Given the description of an element on the screen output the (x, y) to click on. 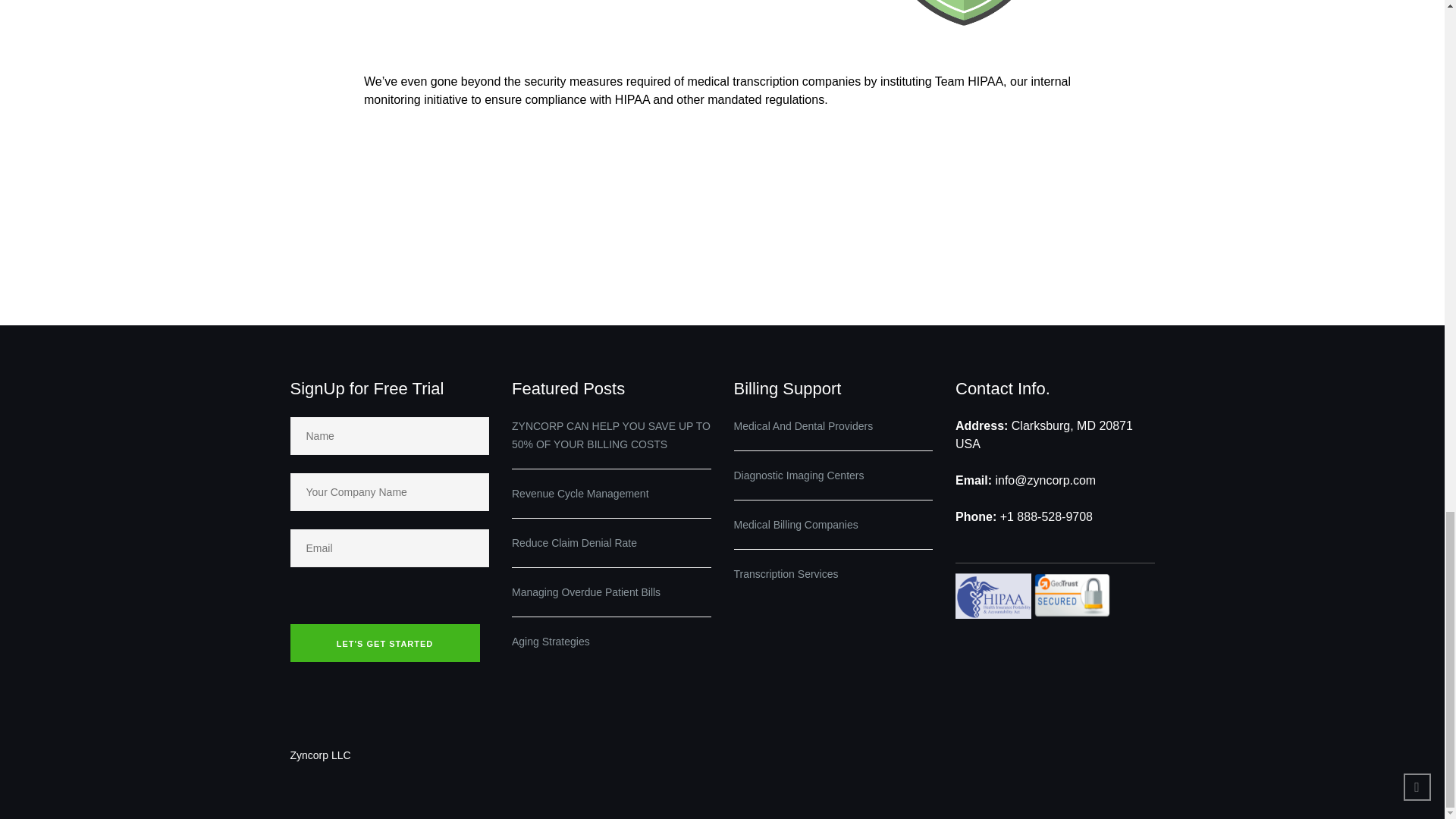
Let's get Started (384, 642)
Managing Overdue Patient Bills (611, 592)
Medical And Dental Providers (803, 426)
Diagnostic Imaging Centers (798, 475)
Revenue Cycle Management (611, 493)
Transcription Services (785, 573)
Aging Strategies (611, 641)
Medical Billing Companies (796, 524)
Let's get Started (384, 642)
Reduce Claim Denial Rate (611, 542)
